Given the description of an element on the screen output the (x, y) to click on. 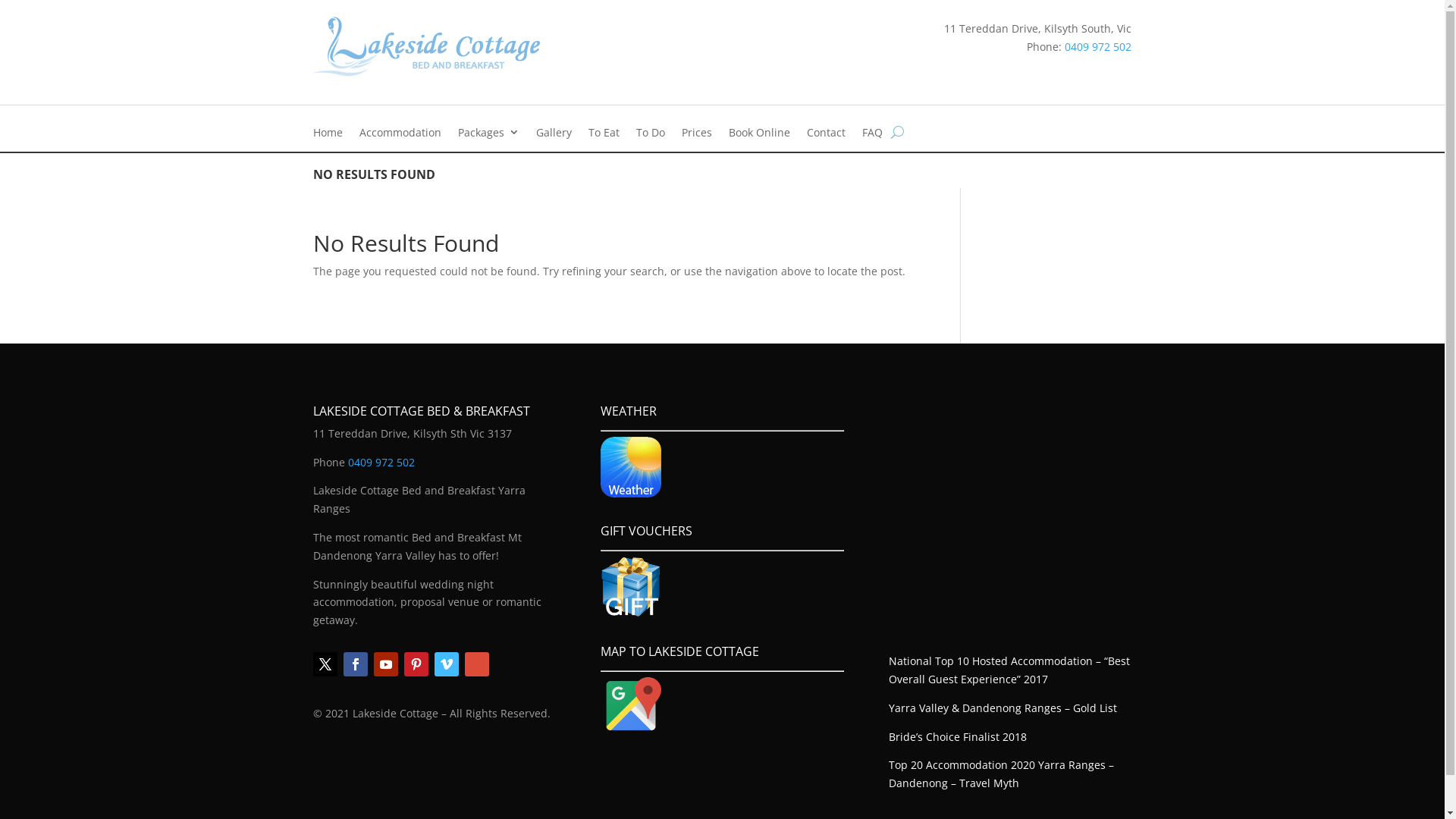
0409 972 502 Element type: text (380, 462)
Follow on Facebook Element type: hover (354, 664)
To Eat Element type: text (603, 135)
Packages Element type: text (488, 135)
Contact Element type: text (825, 135)
Follow on Vimeo Element type: hover (445, 664)
Prices Element type: text (695, 135)
Accommodation Element type: text (400, 135)
FAQ Element type: text (871, 135)
Book Online Element type: text (758, 135)
Gallery Element type: text (553, 135)
Follow on Pinterest Element type: hover (415, 664)
LakesideCottageLogo2 Element type: hover (425, 46)
Home Element type: text (327, 135)
0409 972 502 Element type: text (1097, 46)
Follow on Youtube Element type: hover (385, 664)
Follow on google-plus Element type: hover (476, 664)
Follow on X Element type: hover (324, 664)
To Do Element type: text (649, 135)
